Given the description of an element on the screen output the (x, y) to click on. 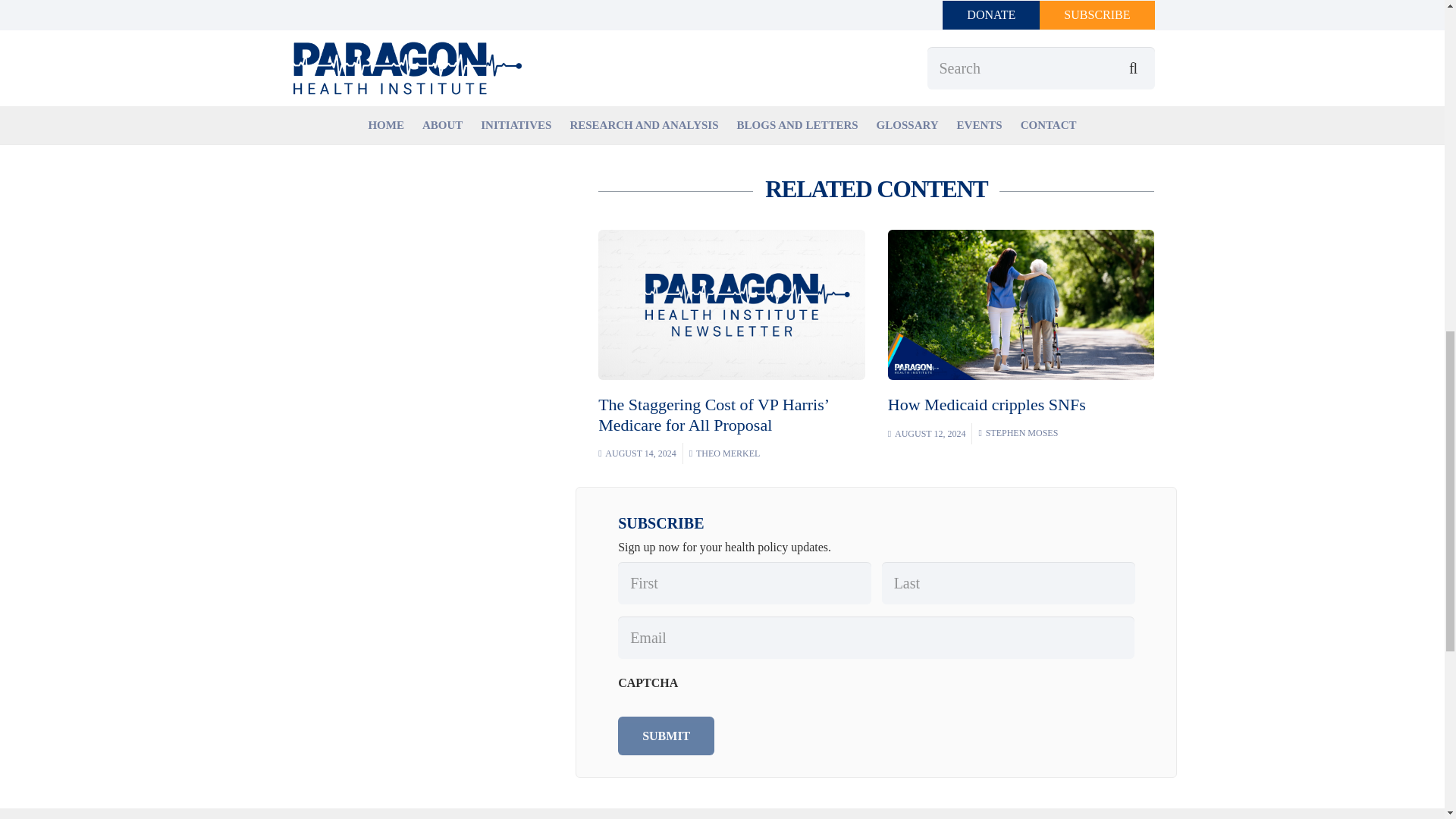
Tweet this (711, 16)
Submit (665, 735)
Back to top (1413, 26)
Share this (665, 16)
Email this (620, 16)
Share this (757, 16)
